Given the description of an element on the screen output the (x, y) to click on. 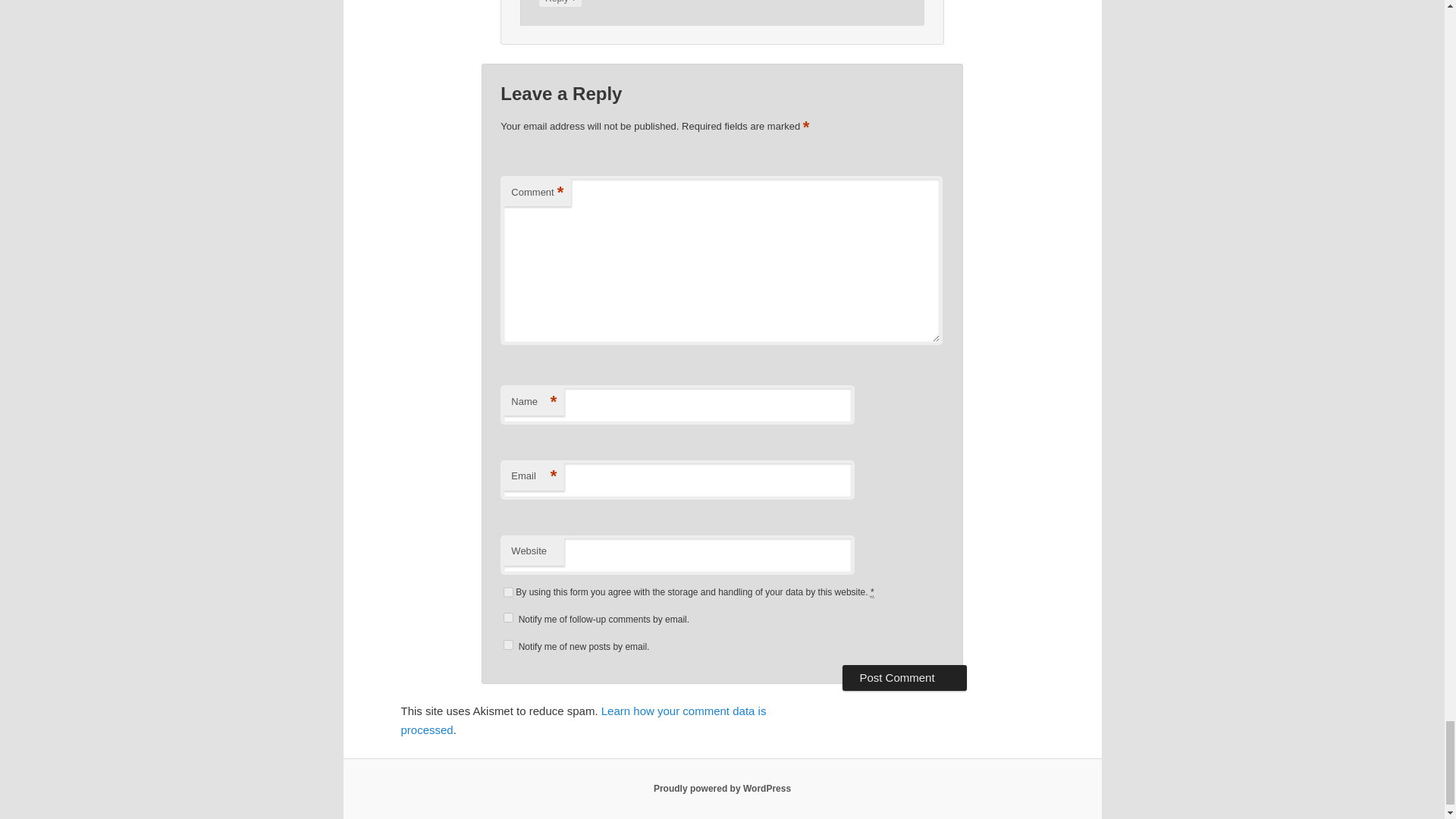
subscribe (508, 617)
Post Comment (904, 678)
subscribe (508, 644)
